Given the description of an element on the screen output the (x, y) to click on. 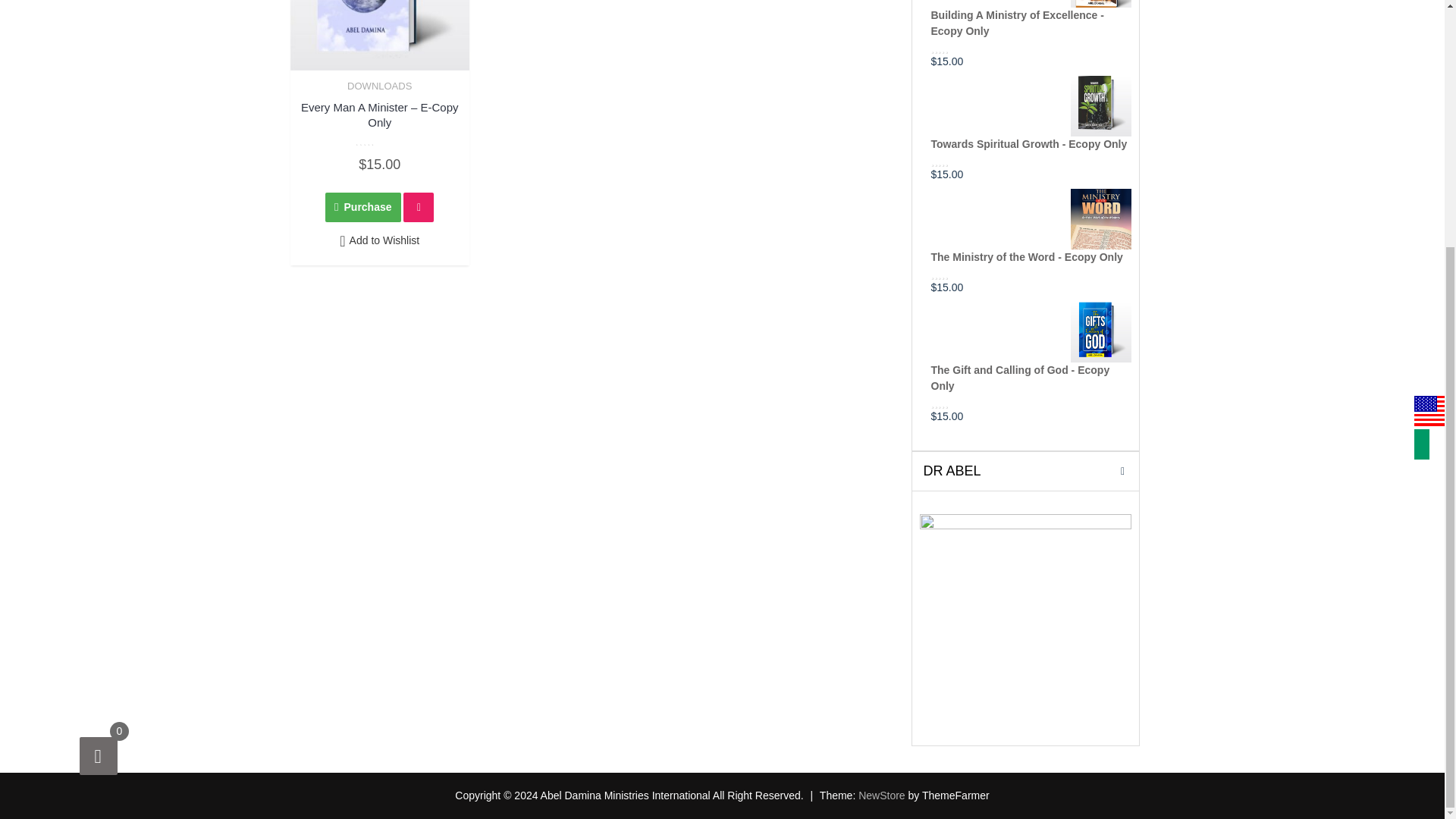
No Review (959, 161)
The Gift and Calling of God - Ecopy Only (1031, 350)
No Review (959, 273)
No Review (959, 402)
No Review (379, 140)
Towards Spiritual Growth - Ecopy Only (1031, 116)
The Ministry of the Word - Ecopy Only (1031, 228)
Compare (418, 206)
DR ABEL (1024, 618)
Purchase (362, 206)
No Review (959, 47)
DOWNLOADS (379, 85)
NewStore (881, 795)
Building A Ministry of Excellence - Ecopy Only (1031, 21)
Add to Wishlist (379, 240)
